Given the description of an element on the screen output the (x, y) to click on. 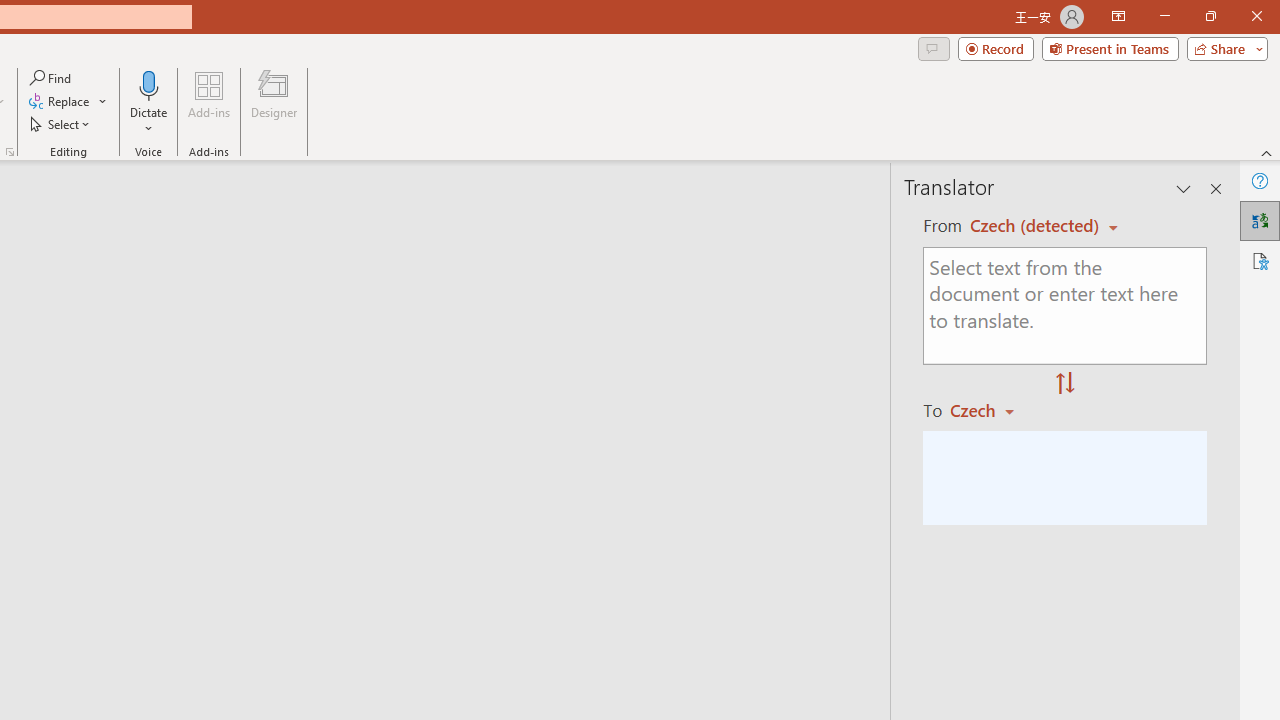
Find... (51, 78)
